Given the description of an element on the screen output the (x, y) to click on. 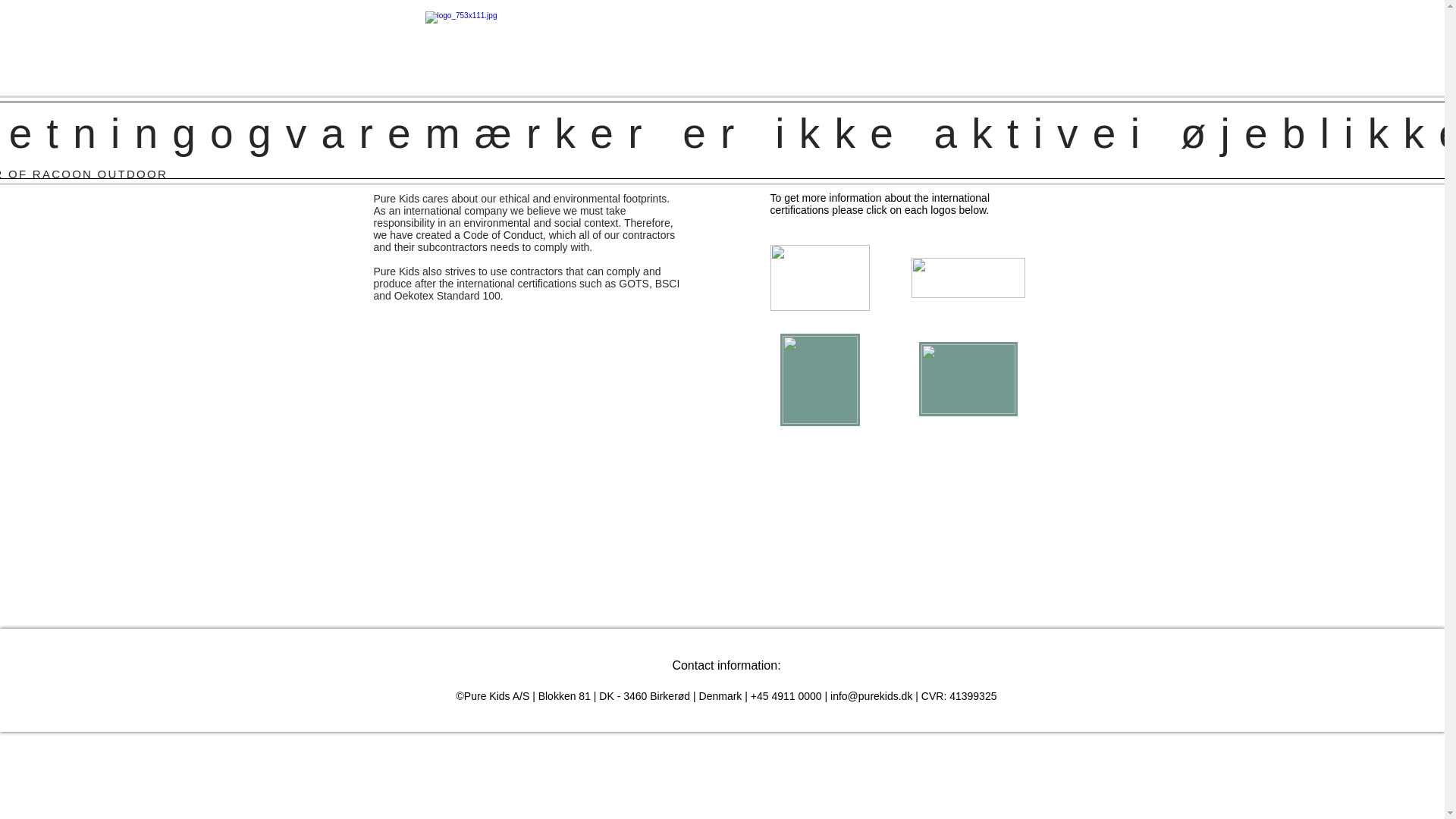
Racoon Outdoor (718, 111)
Oeko-Tex Standard 100 (819, 277)
BSCI (968, 277)
Career (1021, 111)
History (414, 111)
International Labour Organization (967, 379)
Home (137, 111)
